Given the description of an element on the screen output the (x, y) to click on. 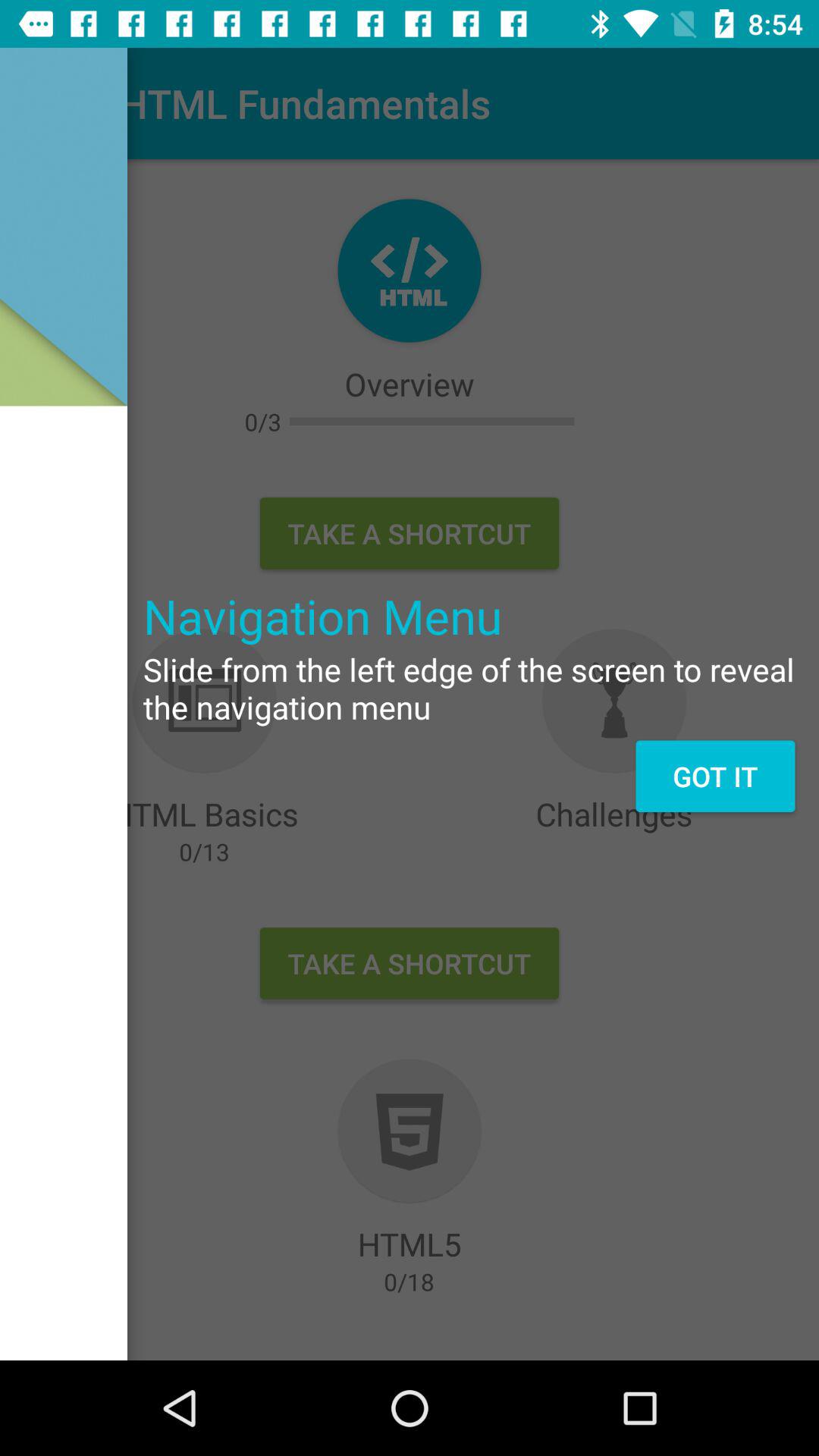
select got it item (715, 776)
